Given the description of an element on the screen output the (x, y) to click on. 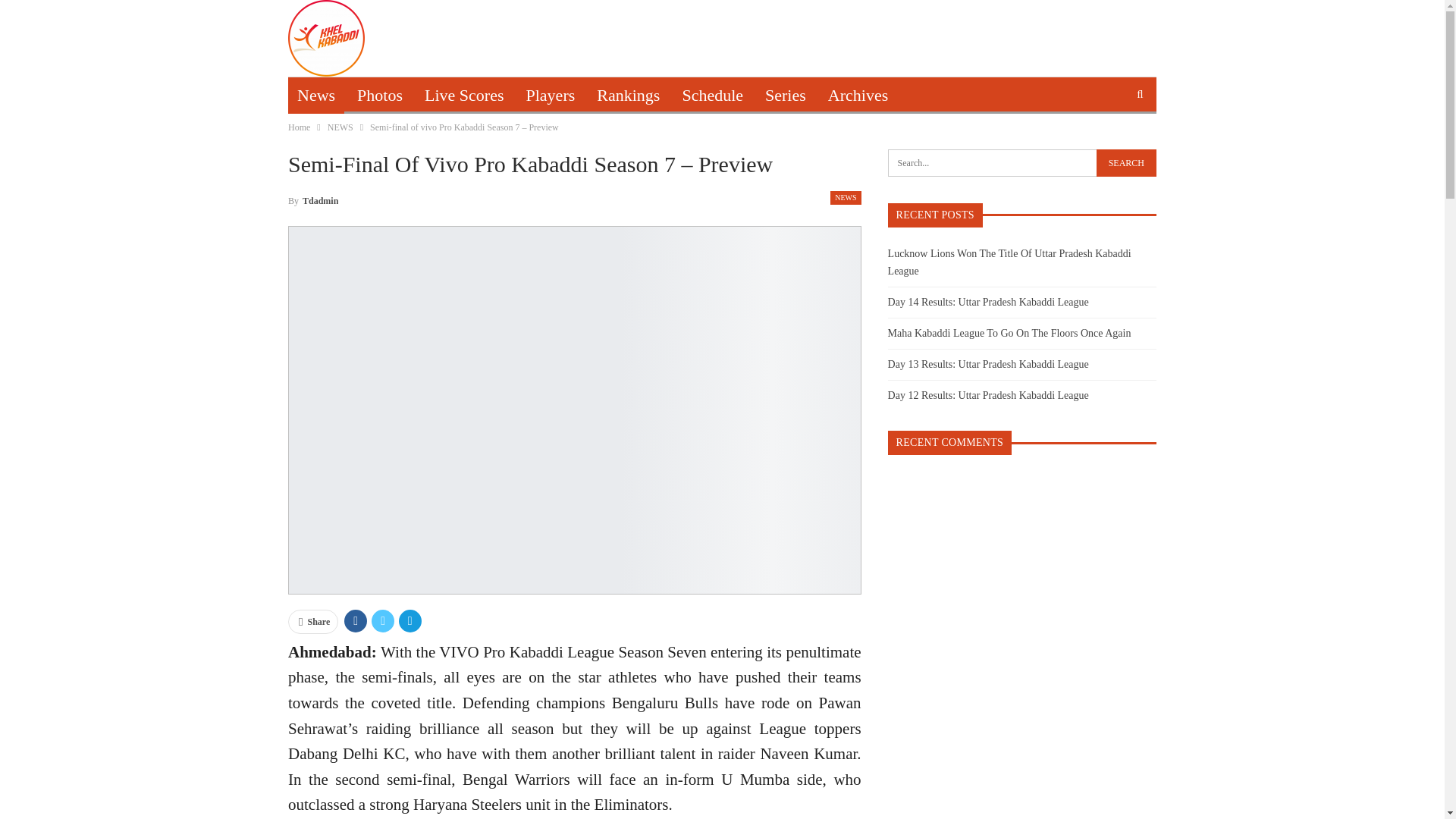
By Tdadmin (312, 199)
Schedule (712, 94)
Home (299, 126)
Search (1126, 162)
Live Scores (463, 94)
Search for: (1022, 162)
Browse Author Articles (312, 199)
Archives (857, 94)
Photos (379, 94)
Rankings (628, 94)
Players (550, 94)
Series (785, 94)
Search (1126, 162)
News (315, 94)
NEWS (844, 197)
